Given the description of an element on the screen output the (x, y) to click on. 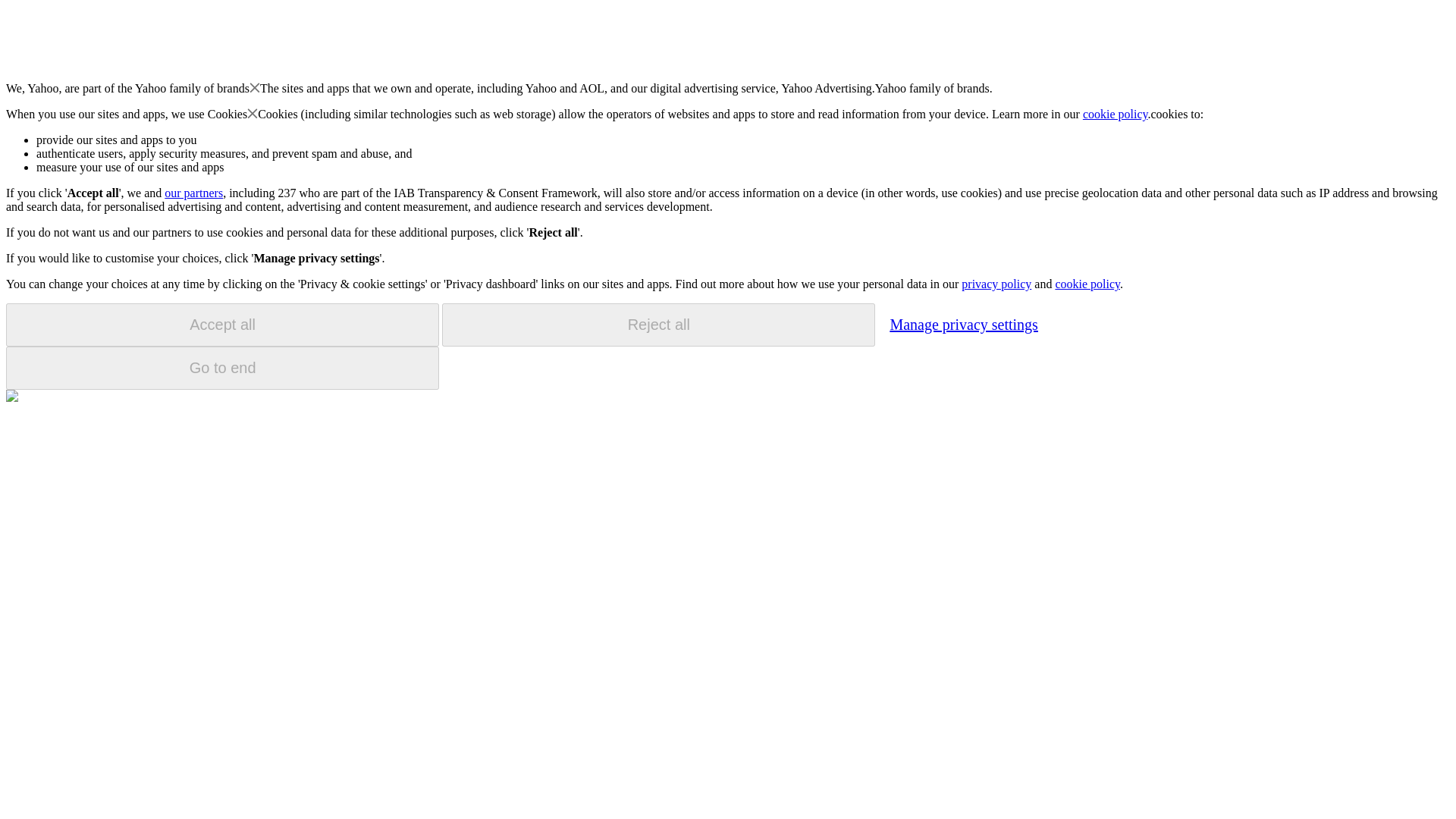
our partners (193, 192)
Reject all (658, 324)
privacy policy (995, 283)
cookie policy (1115, 113)
cookie policy (1086, 283)
Go to end (222, 367)
Accept all (222, 324)
Manage privacy settings (963, 323)
